Given the description of an element on the screen output the (x, y) to click on. 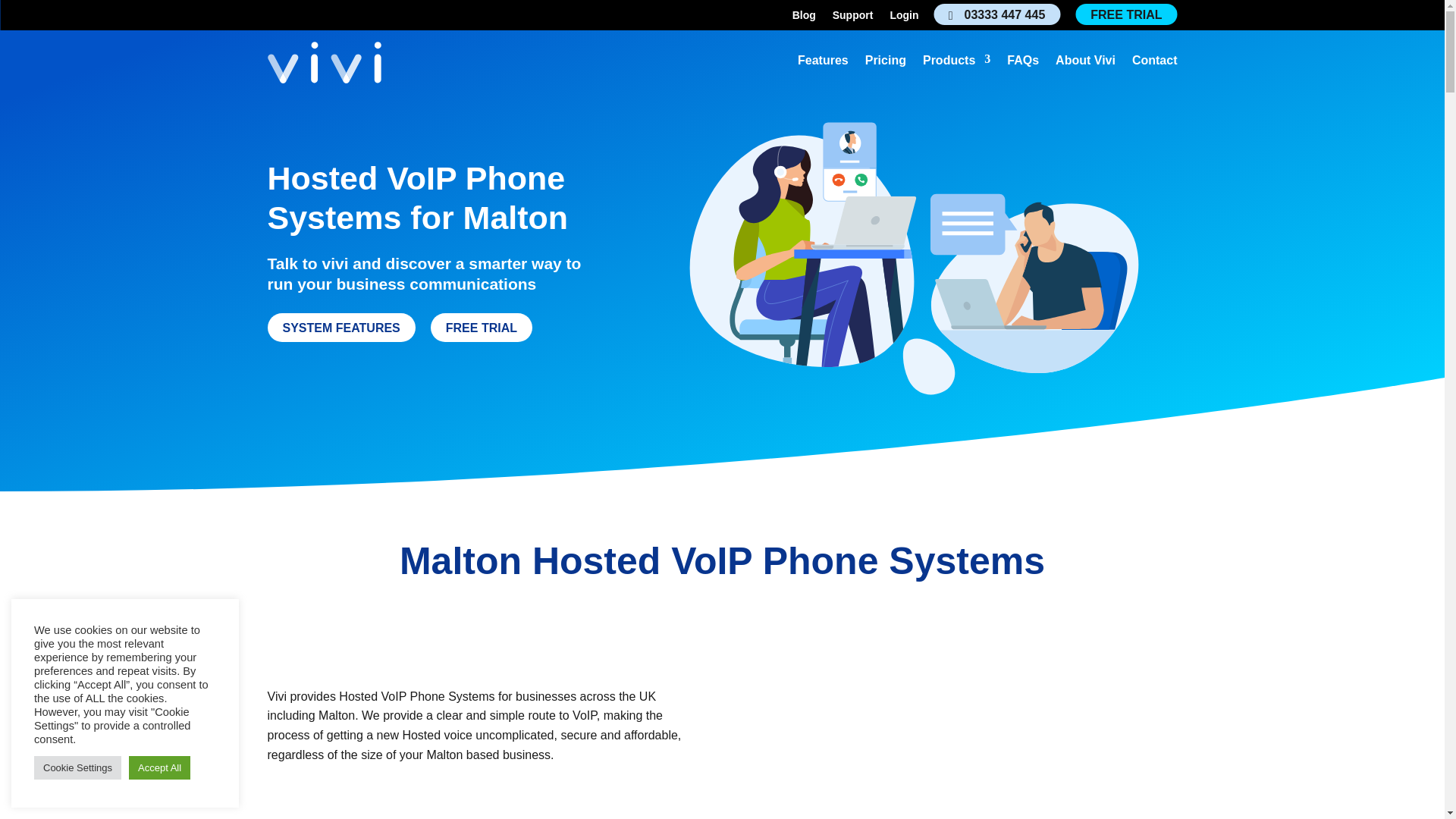
About Vivi (1085, 63)
Support (852, 17)
Blog (803, 17)
FREE TRIAL (1125, 14)
Login (903, 17)
03333 447 445 (997, 14)
Products (956, 63)
Features (822, 63)
Pricing (884, 63)
Contact (1154, 63)
